Given the description of an element on the screen output the (x, y) to click on. 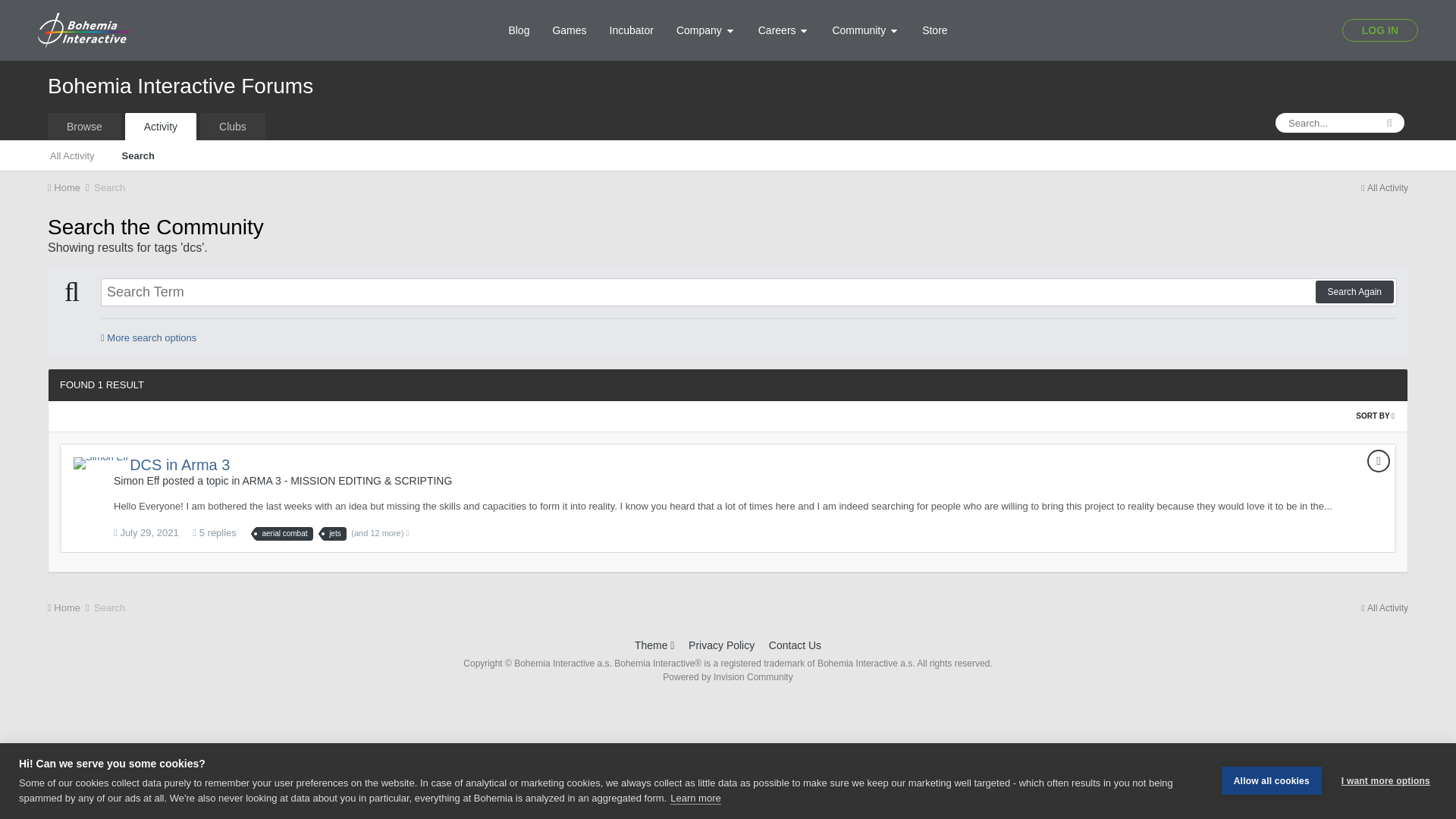
Games (568, 30)
Company (705, 30)
Find other content tagged with 'jets' (334, 533)
Community (866, 30)
Careers (783, 30)
Find other content tagged with 'aerial combat' (284, 533)
Topic (1378, 460)
Go to Simon Eff's profile (101, 463)
Incubator (631, 30)
Home (69, 187)
